Given the description of an element on the screen output the (x, y) to click on. 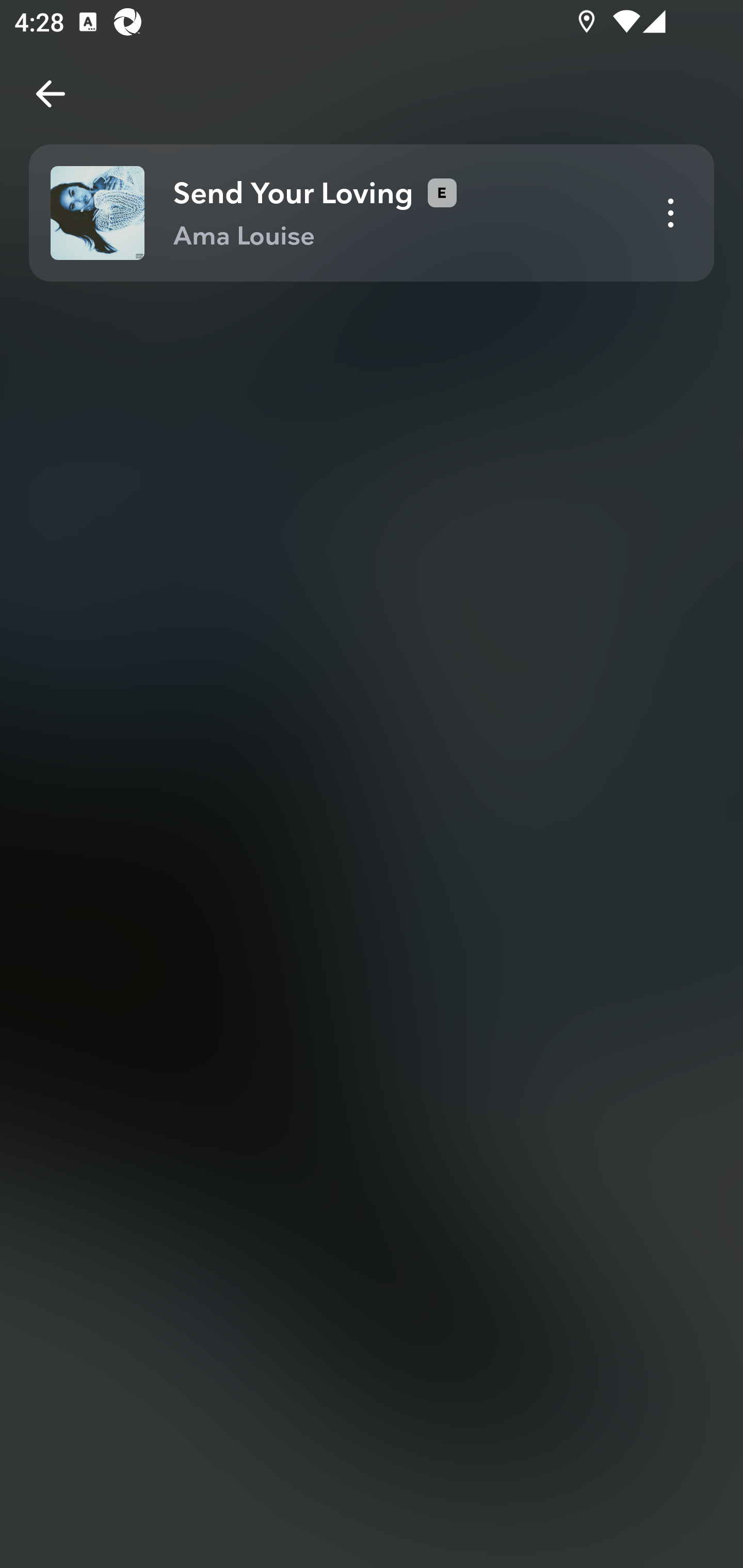
Send Your Loving Ama Louise (371, 213)
